Given the description of an element on the screen output the (x, y) to click on. 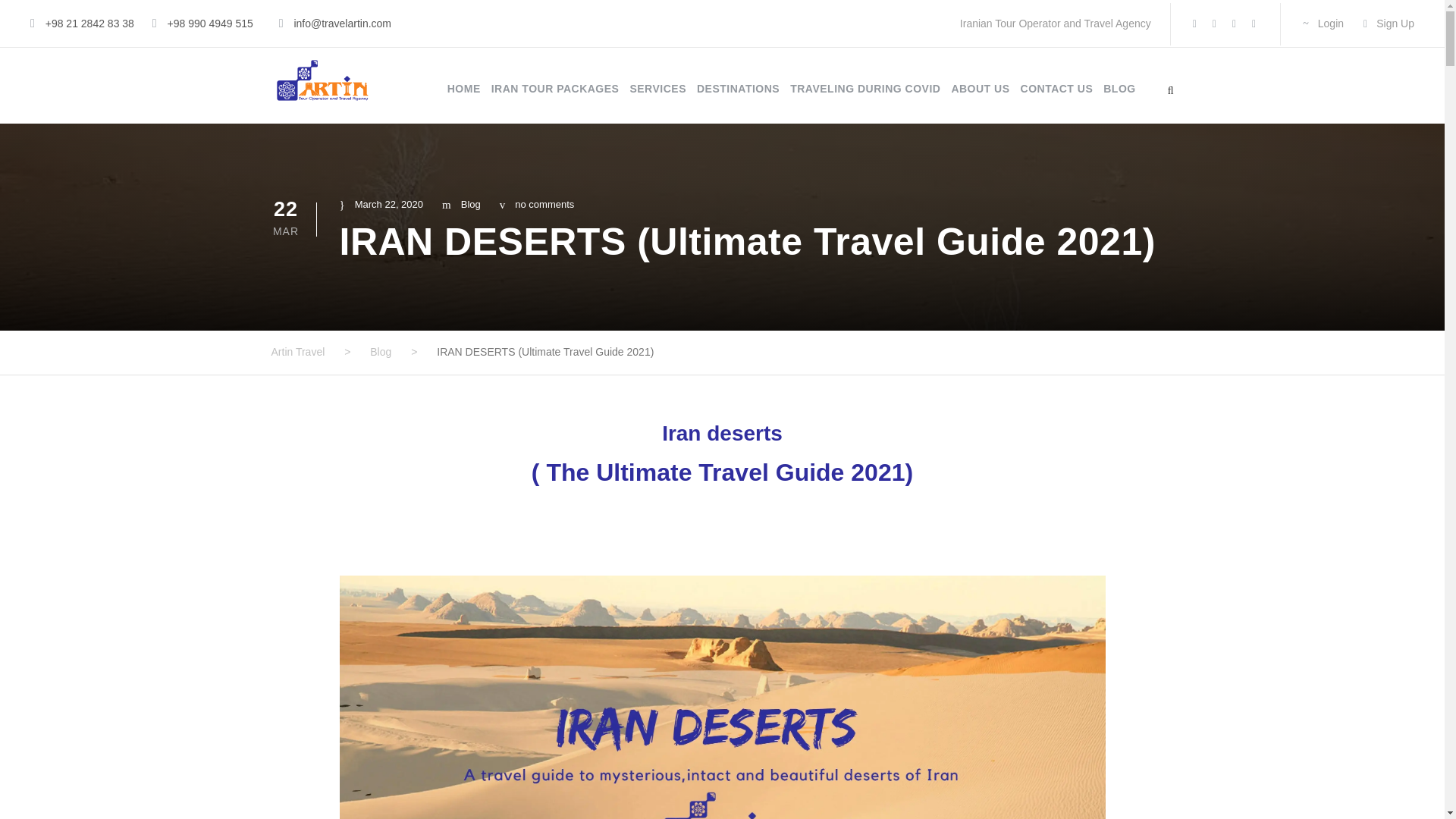
Go to Artin Travel. (297, 351)
Go to the Blog Category archives. (380, 351)
